Given the description of an element on the screen output the (x, y) to click on. 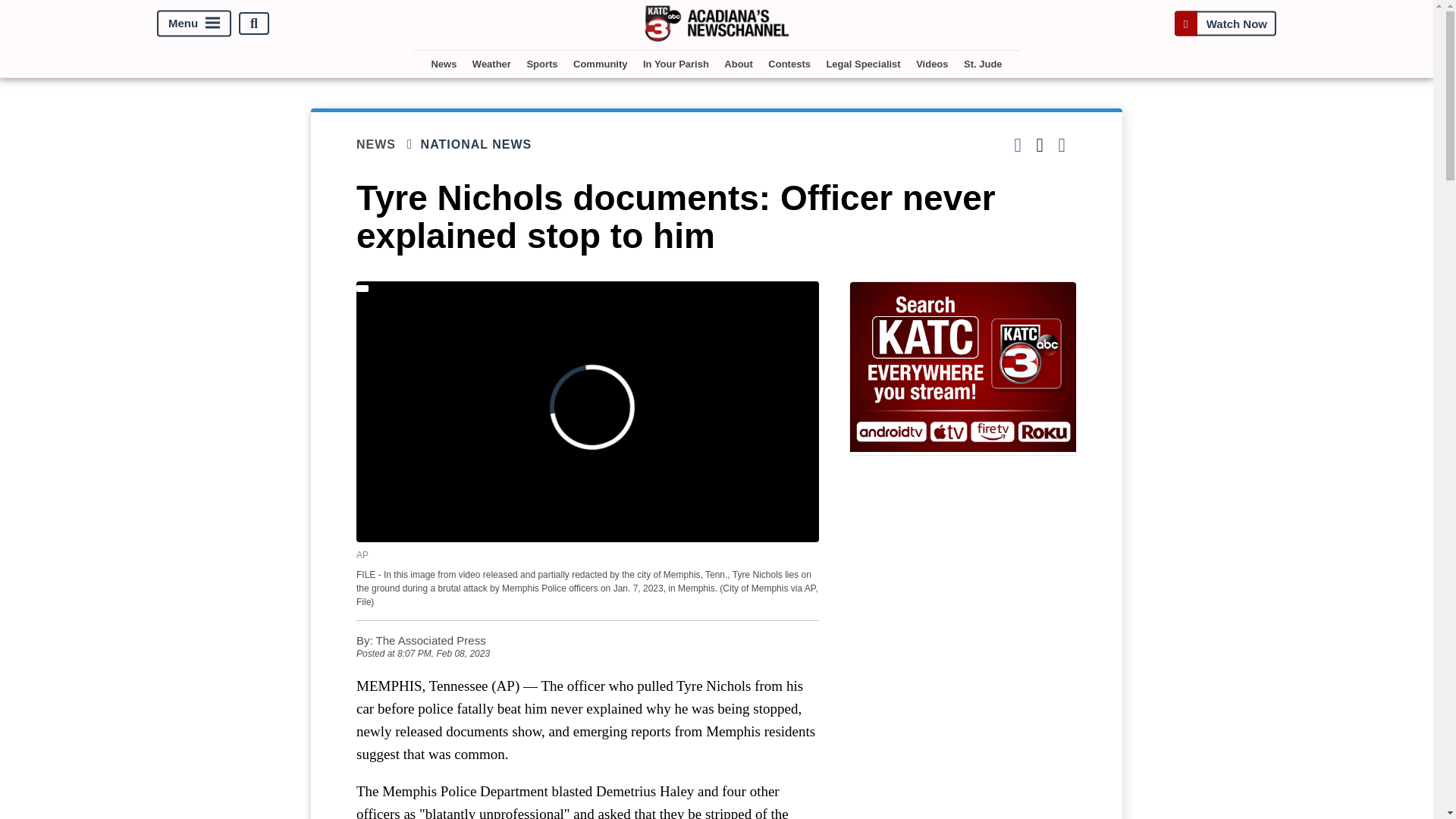
Menu (194, 23)
Watch Now (1224, 23)
